Given the description of an element on the screen output the (x, y) to click on. 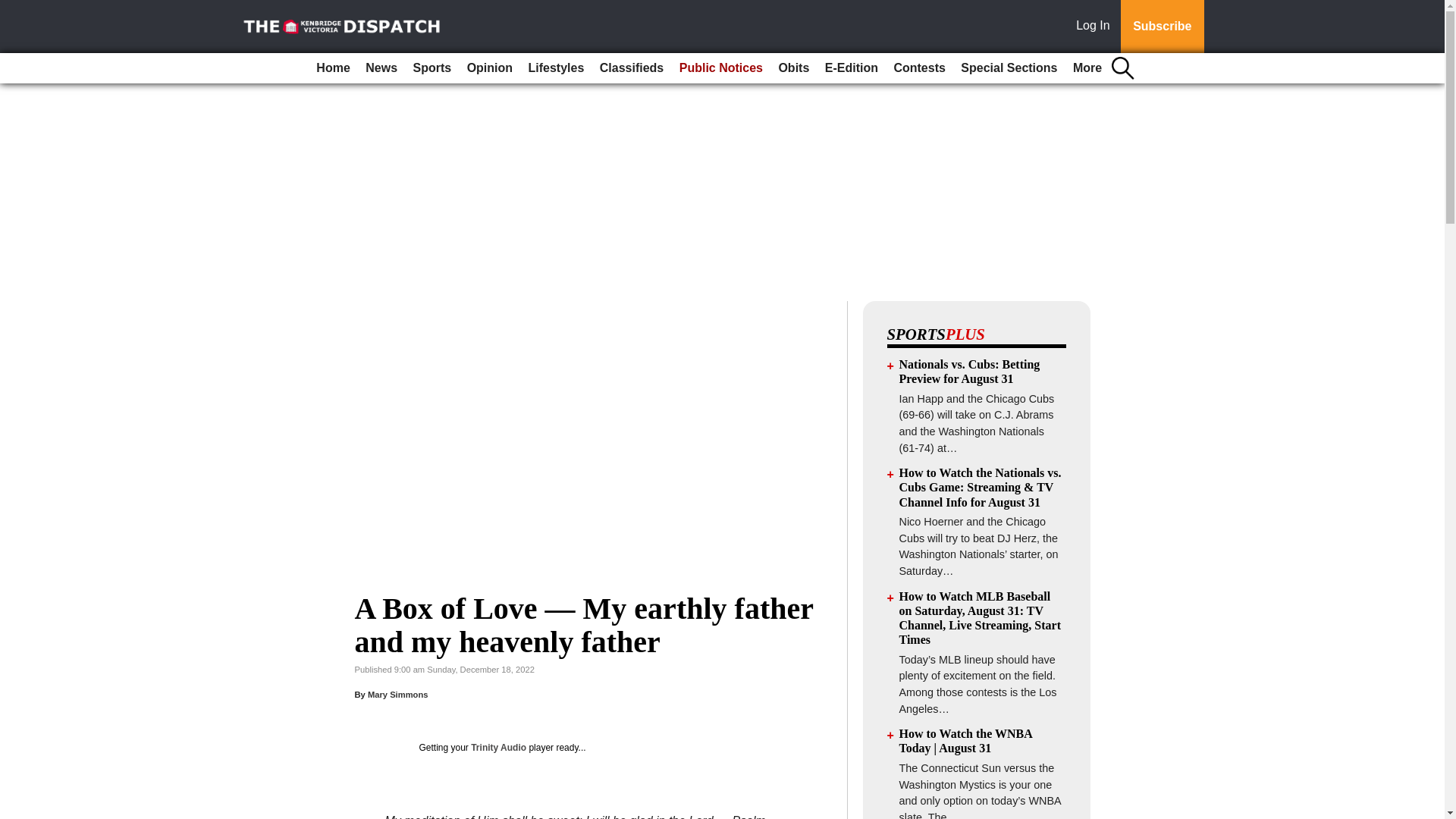
Public Notices (720, 68)
Home (332, 68)
Sports (431, 68)
Contests (918, 68)
More (1087, 68)
Trinity Audio (497, 747)
Go (13, 9)
Nationals vs. Cubs: Betting Preview for August 31 (970, 370)
Classifieds (631, 68)
